Given the description of an element on the screen output the (x, y) to click on. 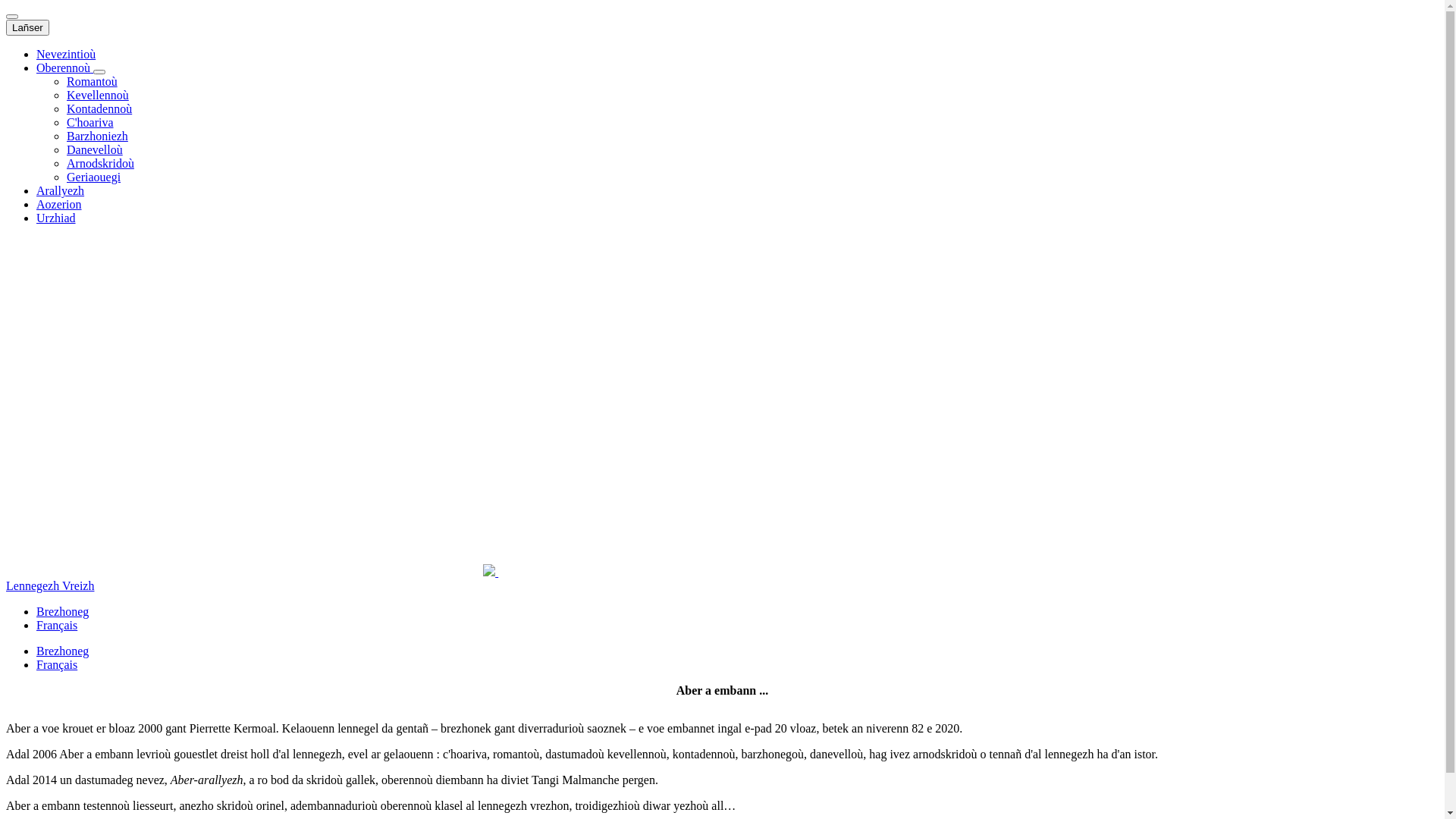
Brezhoneg Element type: text (62, 611)
Skip to main content Element type: text (6, 6)
Aozerion Element type: text (58, 203)
C'hoariva Element type: text (89, 122)
Urzhiad Element type: text (55, 217)
Lennegezh Vreizh Element type: text (50, 585)
Brezhoneg Element type: text (62, 650)
Arallyezh Element type: text (60, 190)
Barzhoniezh Element type: text (97, 135)
Geriaouegi Element type: text (93, 176)
